Given the description of an element on the screen output the (x, y) to click on. 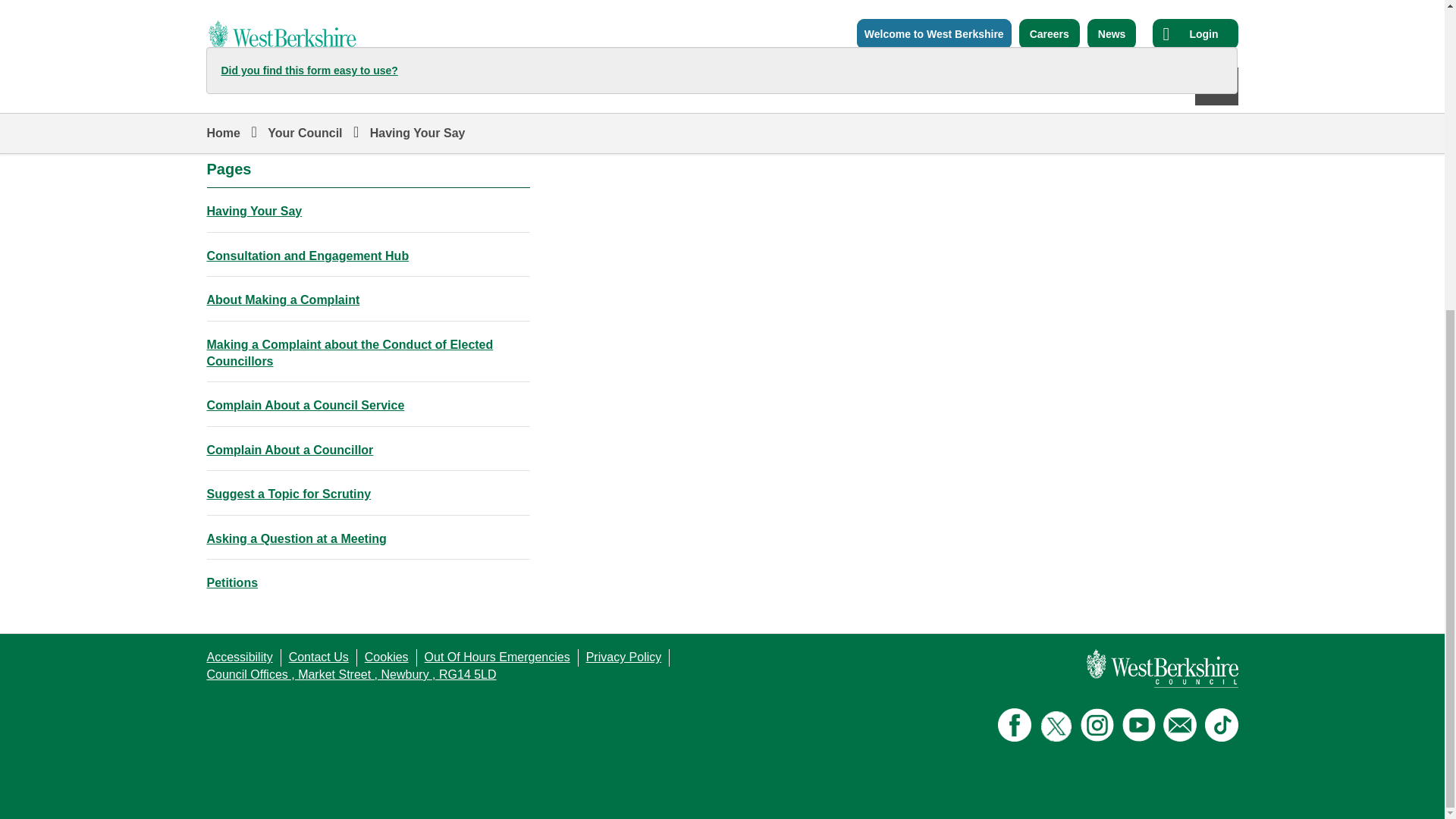
YouTube Channel - West Berkshire Council (1139, 725)
West Berkshire Council on TikTok (1220, 725)
Twitter - West Berkshire (1056, 726)
subscribe to receive future updates direct to your inbox (1179, 725)
West Berkshire Council on Instagram (1096, 725)
Facebook - West Berkshire Council (1013, 725)
